Given the description of an element on the screen output the (x, y) to click on. 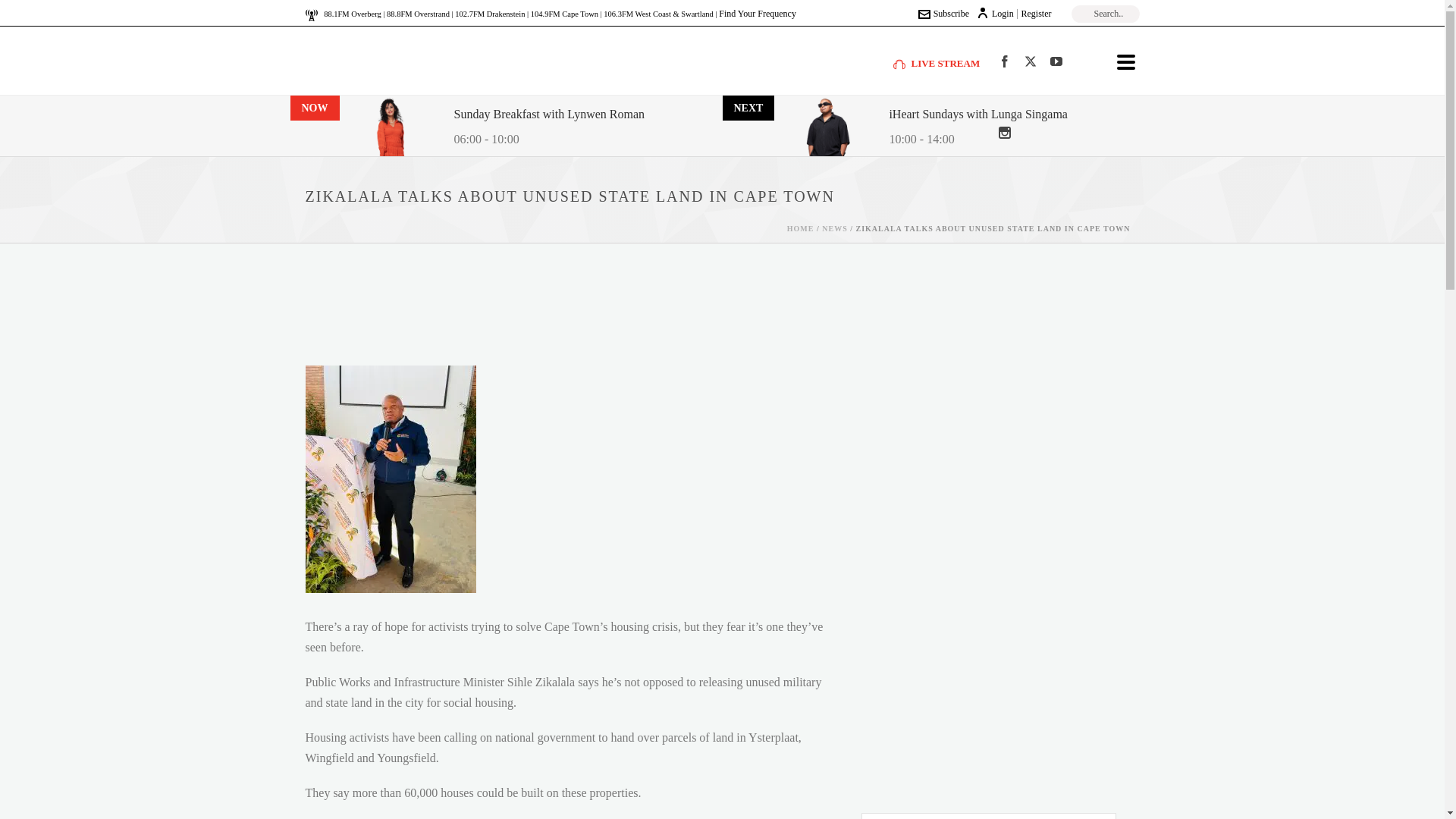
HOME (800, 228)
LIVE STREAM (936, 62)
3rd party ad content (711, 308)
Register (1035, 13)
LIVE STREAM (936, 62)
iHeart Sundays with Lunga Singama (977, 114)
3rd party ad content (986, 687)
Login (994, 13)
Subscribe (943, 13)
Sunday Breakfast with Lynwen Roman (548, 114)
